Given the description of an element on the screen output the (x, y) to click on. 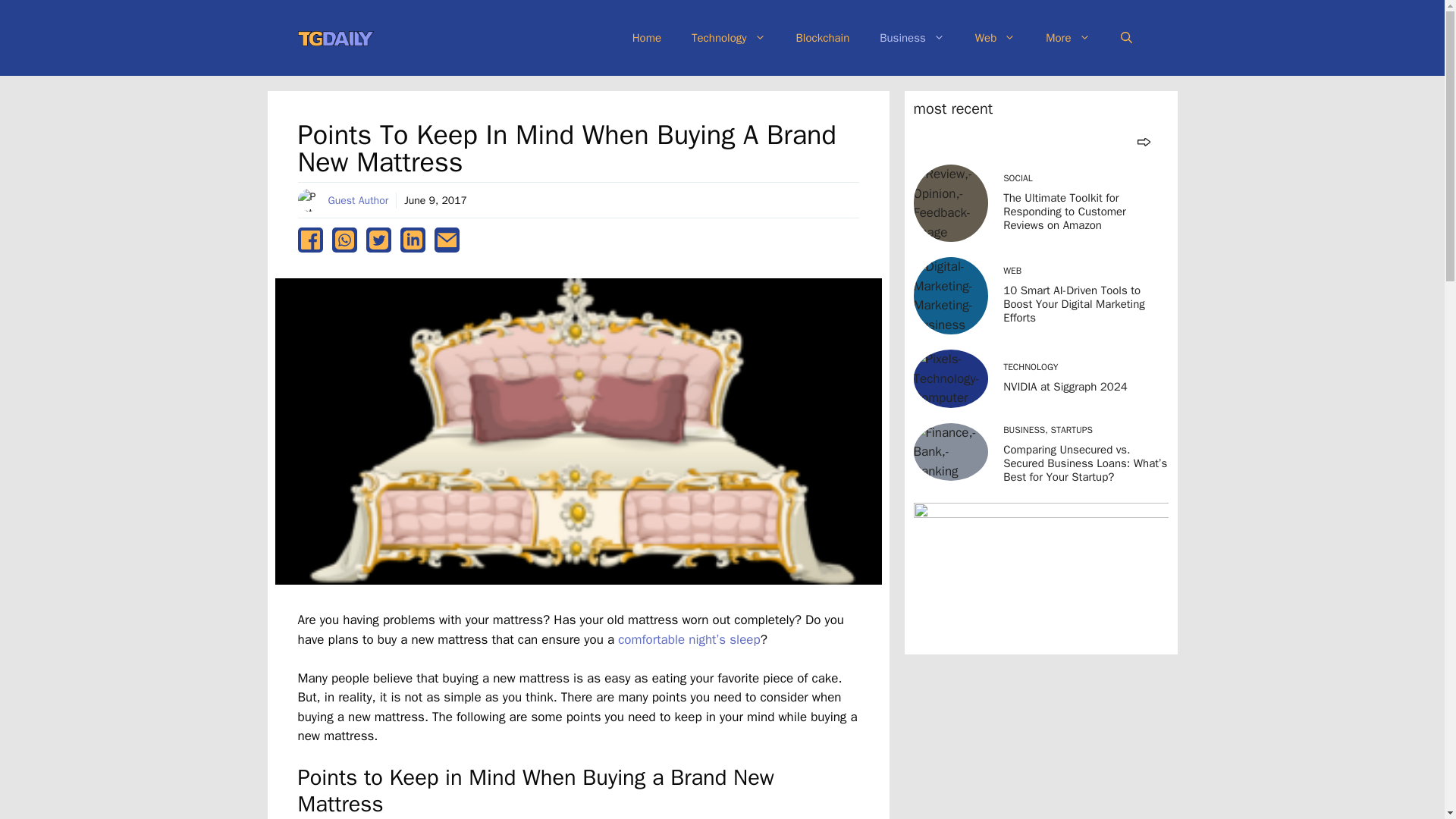
purple-600x400-1 (1039, 573)
Web (994, 37)
Home (647, 37)
Technology (728, 37)
More (1067, 37)
Blockchain (822, 37)
Business (911, 37)
